Given the description of an element on the screen output the (x, y) to click on. 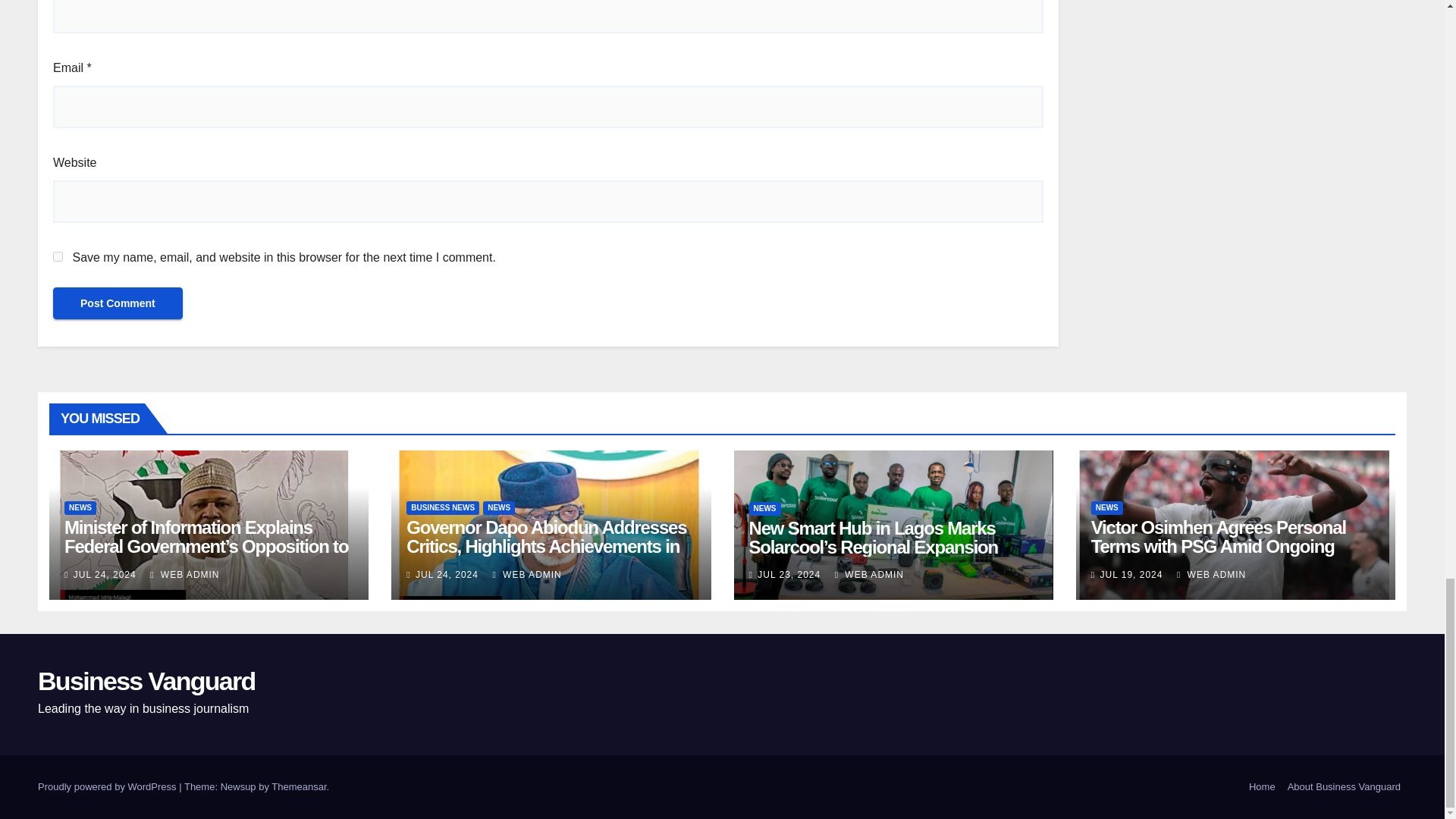
yes (57, 256)
Post Comment (117, 303)
Post Comment (117, 303)
Home (1262, 786)
